Given the description of an element on the screen output the (x, y) to click on. 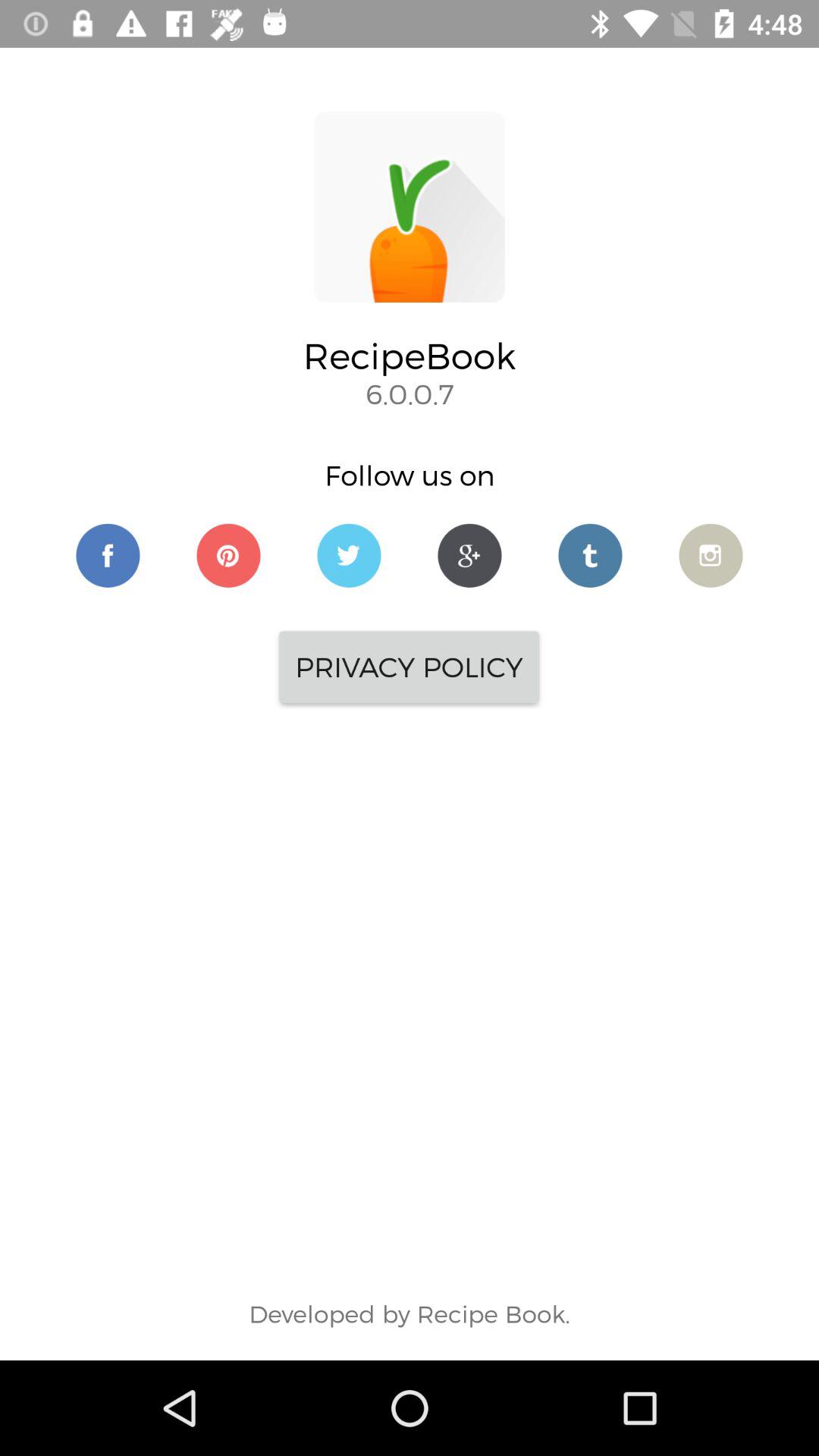
follow recipebook on twitter (590, 555)
